Given the description of an element on the screen output the (x, y) to click on. 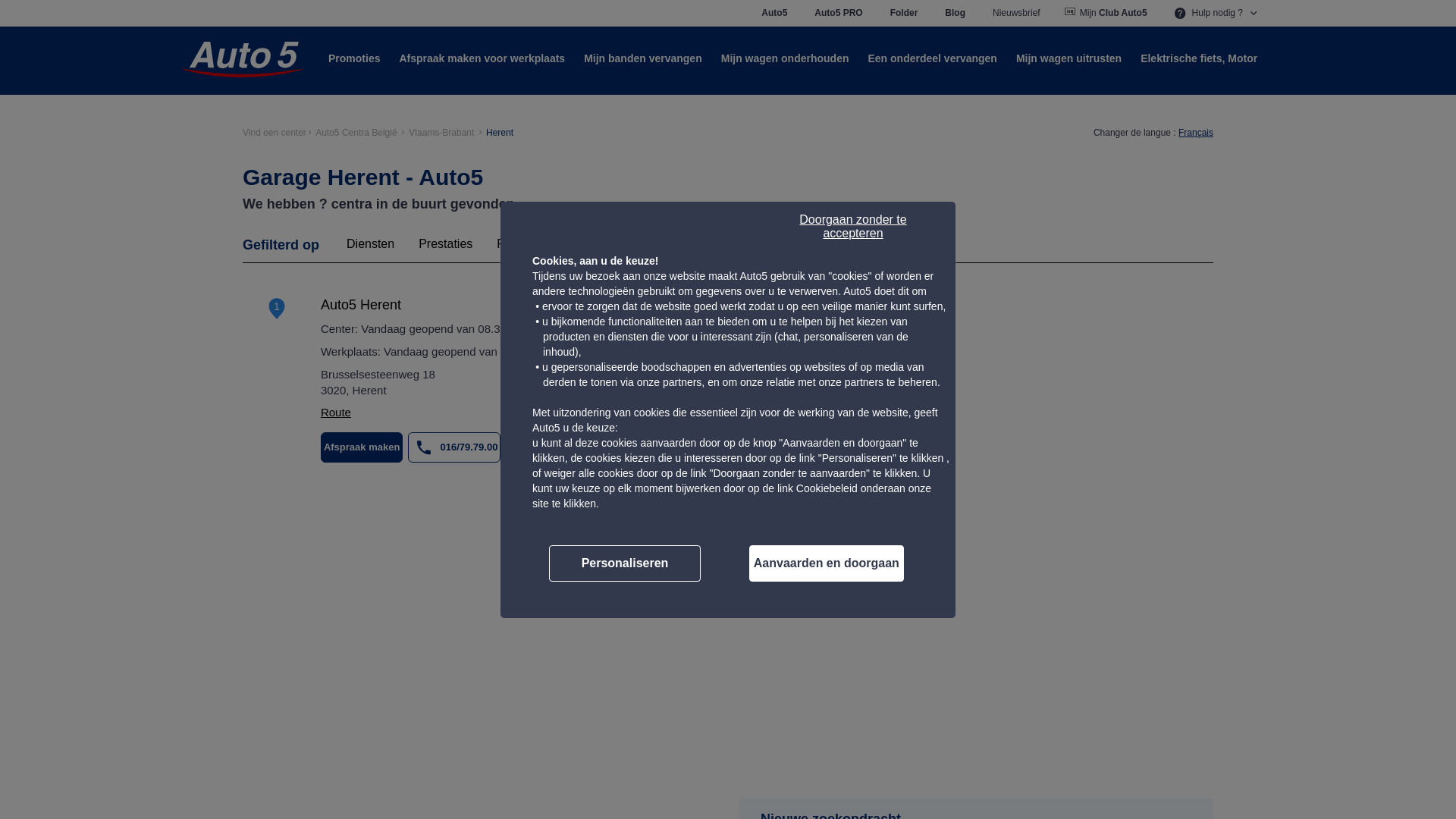
Mijn wagen uitrusten Element type: text (1068, 58)
Auto5 Element type: text (774, 12)
Folder Element type: text (904, 12)
Vind een center Element type: text (274, 132)
Vlaams-Brabant Element type: text (440, 132)
Producten Element type: text (524, 248)
Personaliseren Element type: text (624, 562)
Blog Element type: text (954, 12)
Afspraak maken Element type: text (361, 447)
Mijn banden vervangen Element type: text (642, 58)
Doorgaan zonder te accepteren Element type: text (852, 226)
Auto5 Herent Element type: text (360, 304)
Een onderdeel vervangen Element type: text (931, 58)
Route Element type: text (335, 411)
Zie Meer Element type: text (545, 447)
016/79.79.00 Element type: text (454, 447)
Wis alle filters Element type: text (613, 242)
Diensten Element type: text (370, 248)
Elektrische fiets, Motor Element type: text (1198, 58)
Mijn wagen onderhouden Element type: text (785, 58)
Prestaties Element type: text (445, 248)
Nieuwsbrief Element type: text (1016, 12)
Hulp nodig ? Element type: text (1217, 12)
Afspraak maken voor werkplaats Element type: text (481, 58)
Auto5 PRO Element type: text (838, 12)
Mijn Club Auto5 Element type: text (1107, 12)
Promoties Element type: text (353, 58)
Aanvaarden en doorgaan Element type: text (826, 562)
